Given the description of an element on the screen output the (x, y) to click on. 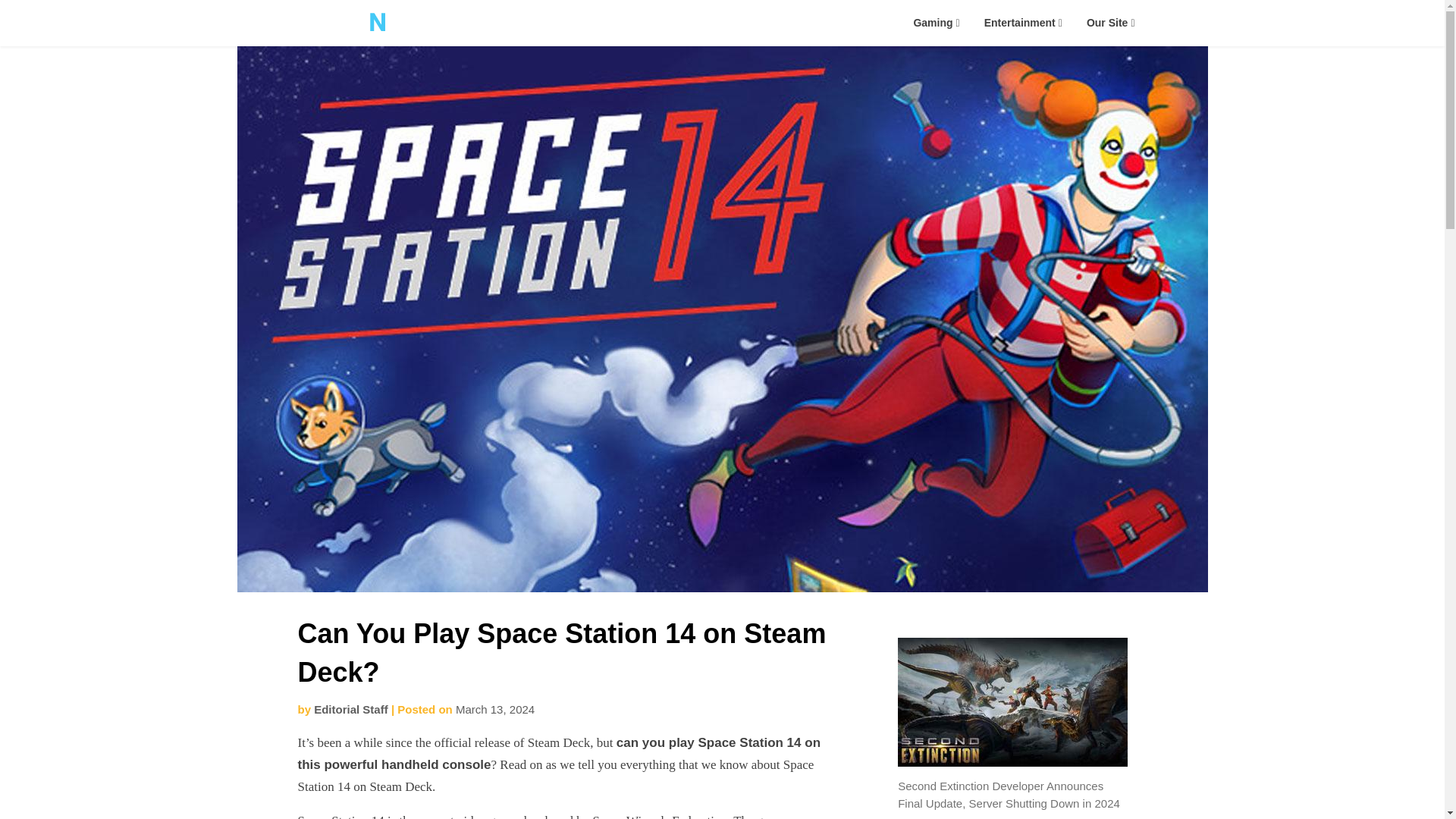
Our Site (1110, 22)
Editorial Staff (351, 708)
Gaming (936, 22)
Entertainment (1023, 22)
Game N Guides (508, 43)
March 13, 2024 (494, 708)
